Given the description of an element on the screen output the (x, y) to click on. 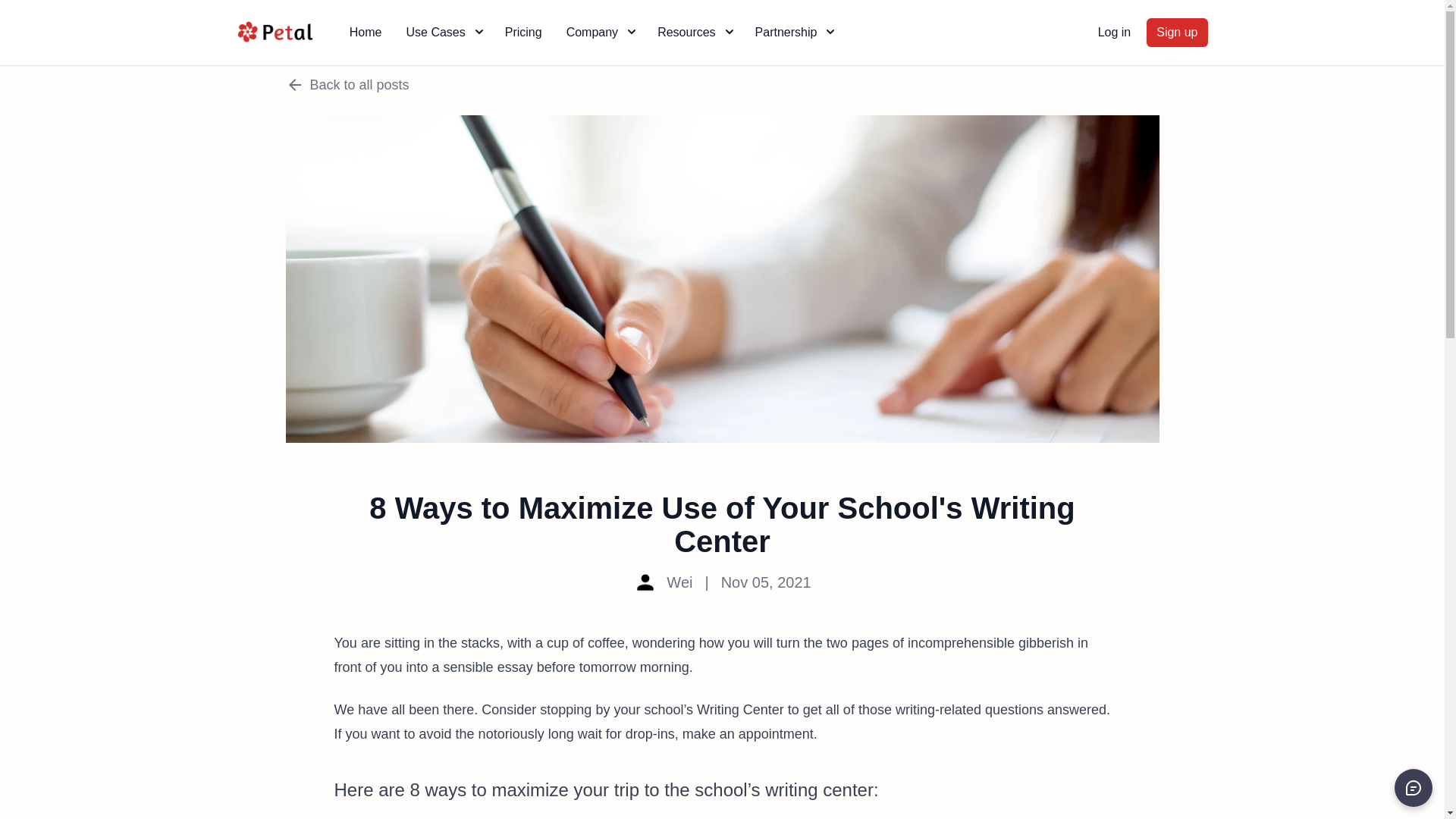
Home (365, 31)
Resources (693, 31)
Sign up (1177, 32)
Use Cases (442, 31)
Wei (679, 582)
Pricing (523, 31)
Partnership (793, 31)
Log in (1114, 32)
Back to all posts (721, 84)
Company (599, 31)
